Given the description of an element on the screen output the (x, y) to click on. 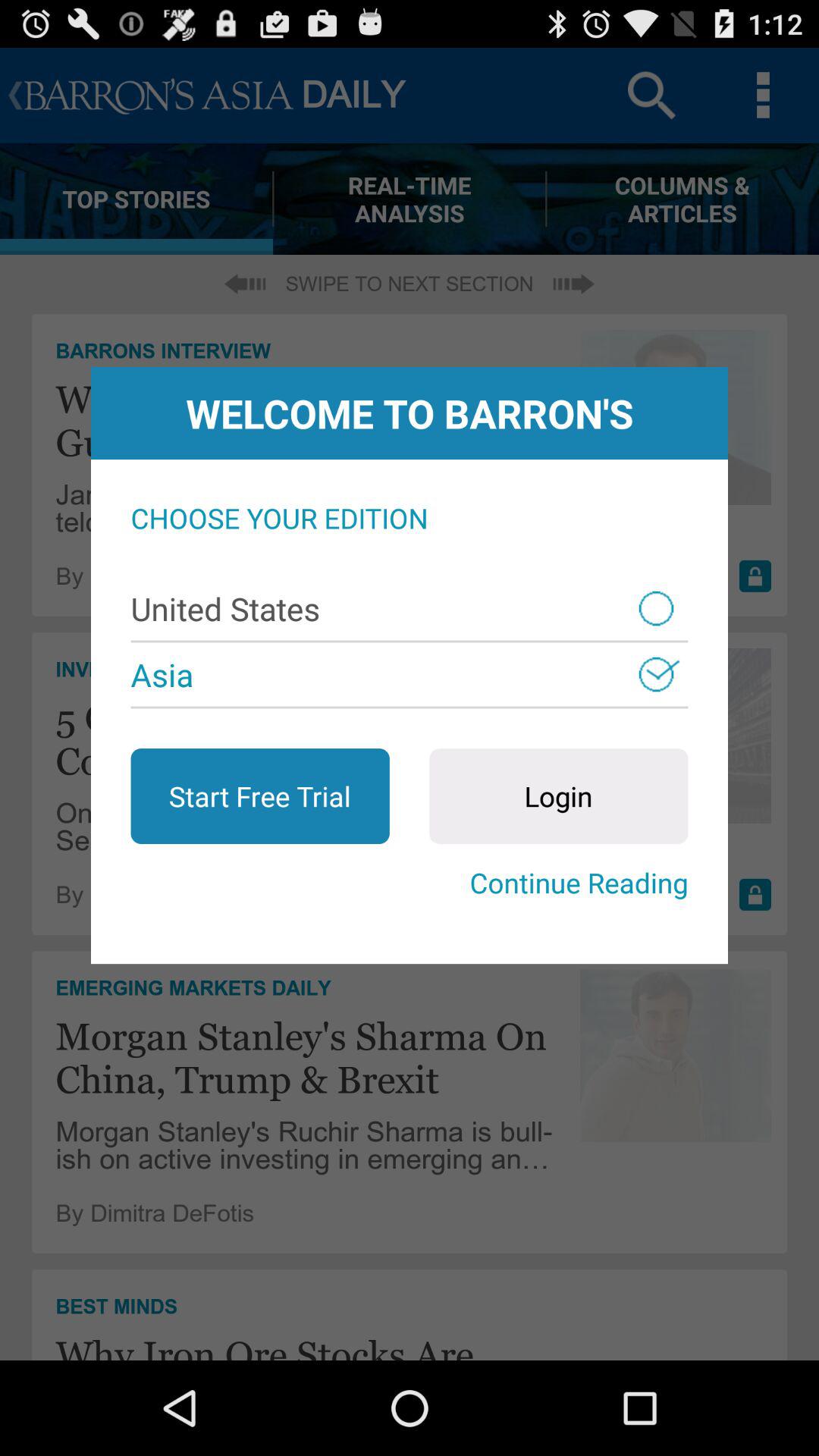
open the app above the continue reading icon (558, 796)
